Given the description of an element on the screen output the (x, y) to click on. 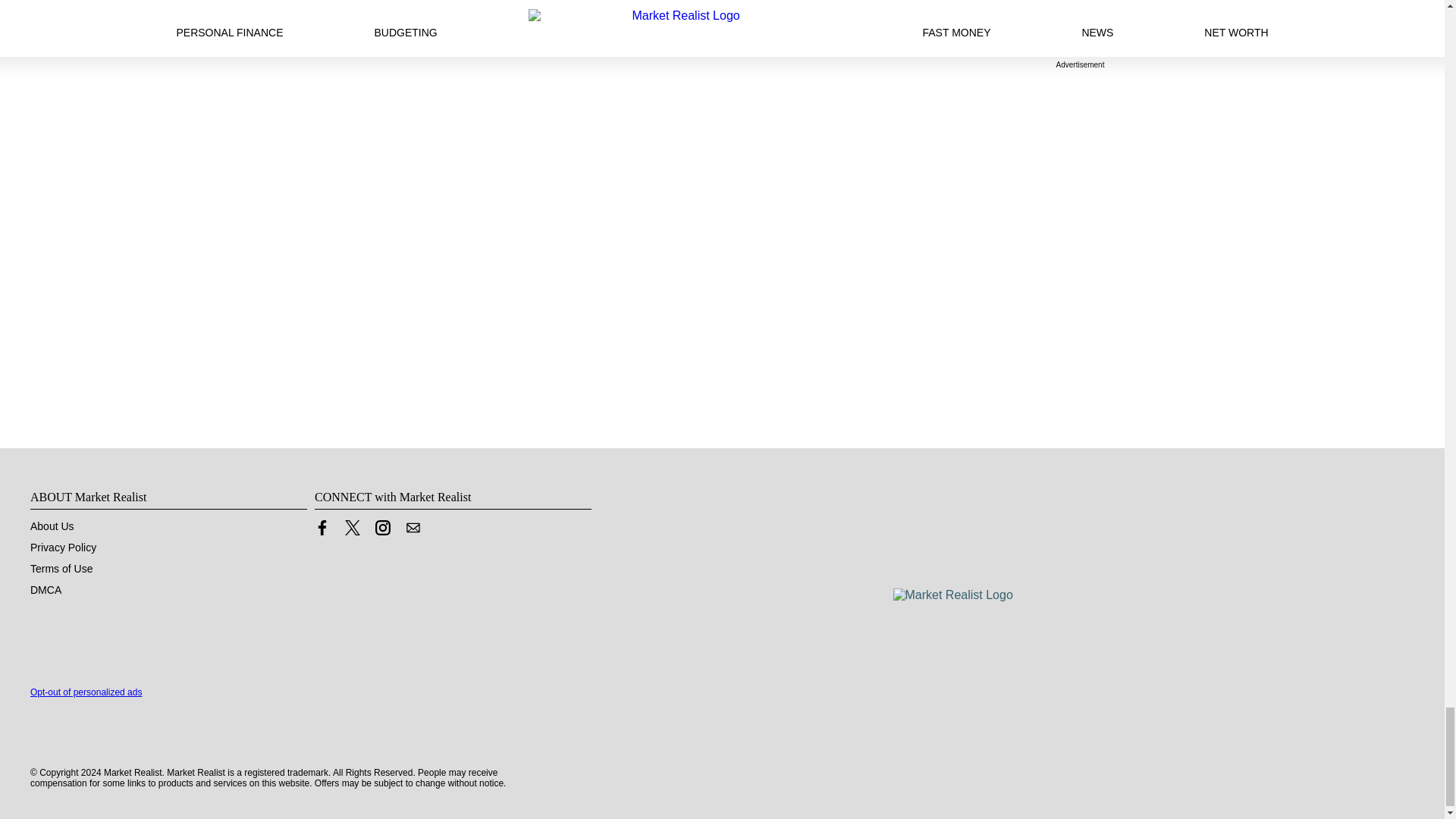
Link to X (352, 527)
Privacy Policy (63, 547)
Link to Instagram (382, 531)
Terms of Use (61, 568)
Link to X (352, 531)
Terms of Use (61, 568)
Link to Facebook (322, 527)
Contact us by Email (413, 531)
Link to Facebook (322, 531)
DMCA (45, 589)
